Given the description of an element on the screen output the (x, y) to click on. 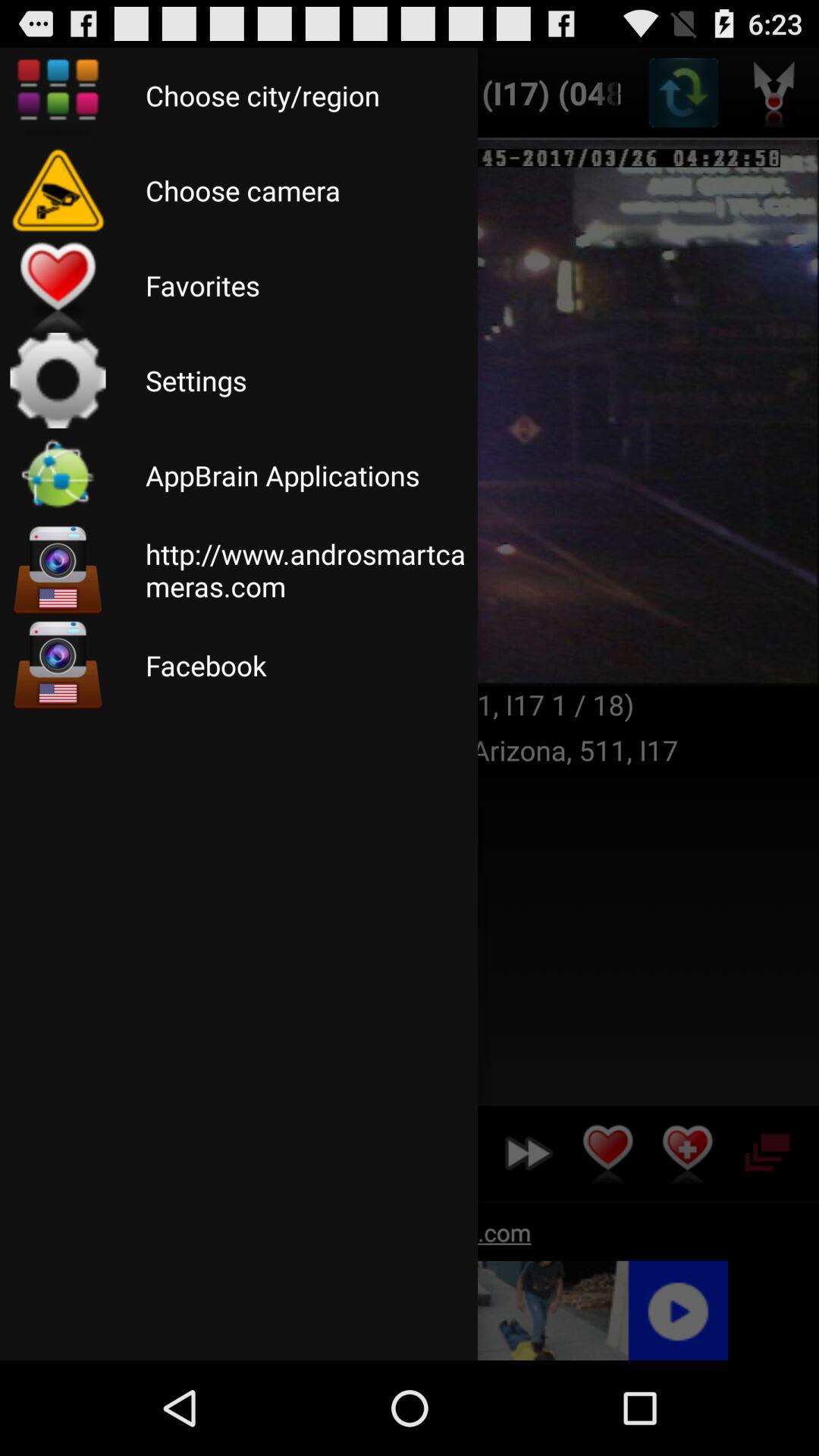
select the symbol left to choose camera (58, 190)
click on image beside facebok (58, 665)
